Given the description of an element on the screen output the (x, y) to click on. 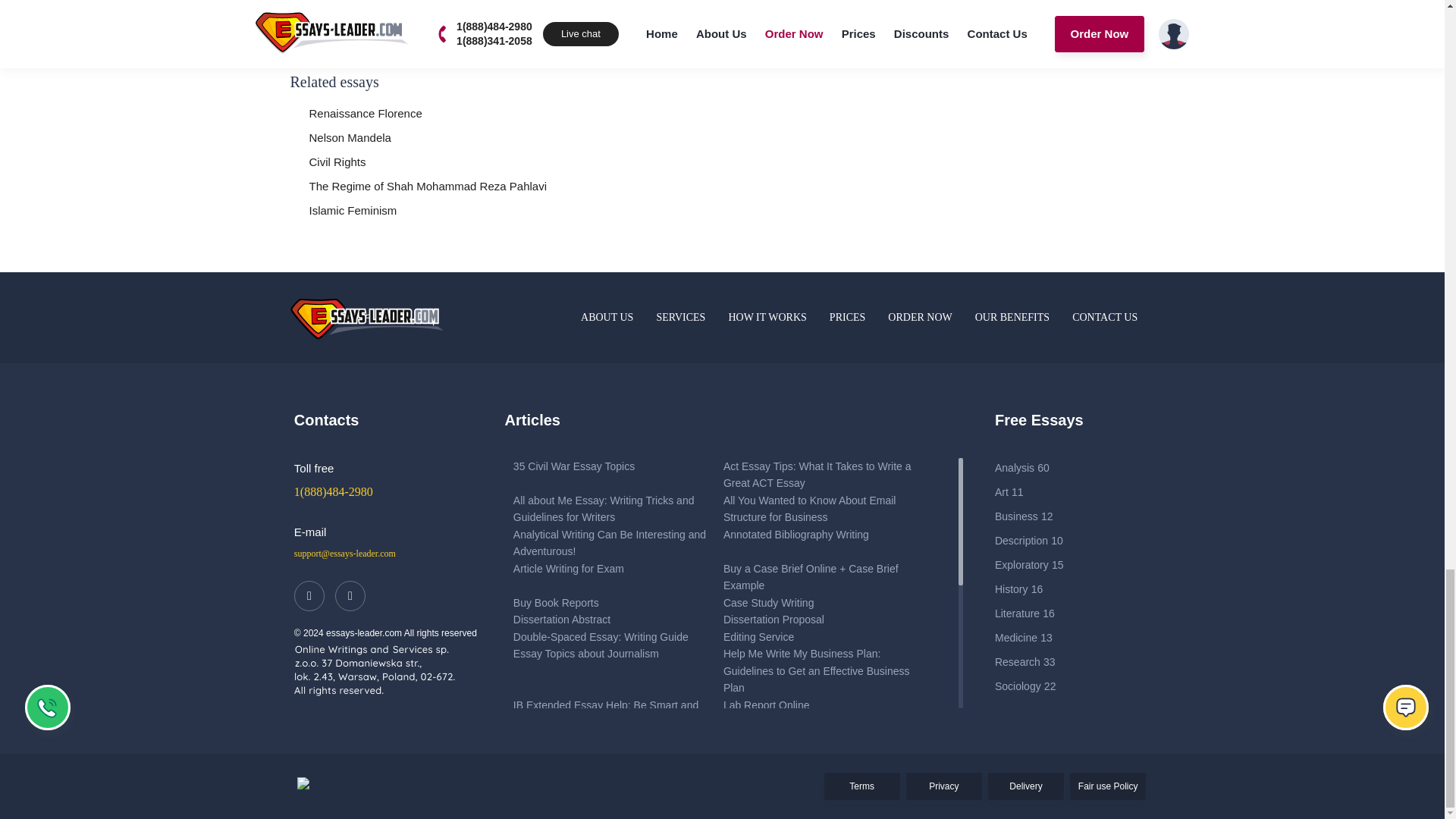
We at Instagram (349, 595)
We at Facebook (309, 595)
